Given the description of an element on the screen output the (x, y) to click on. 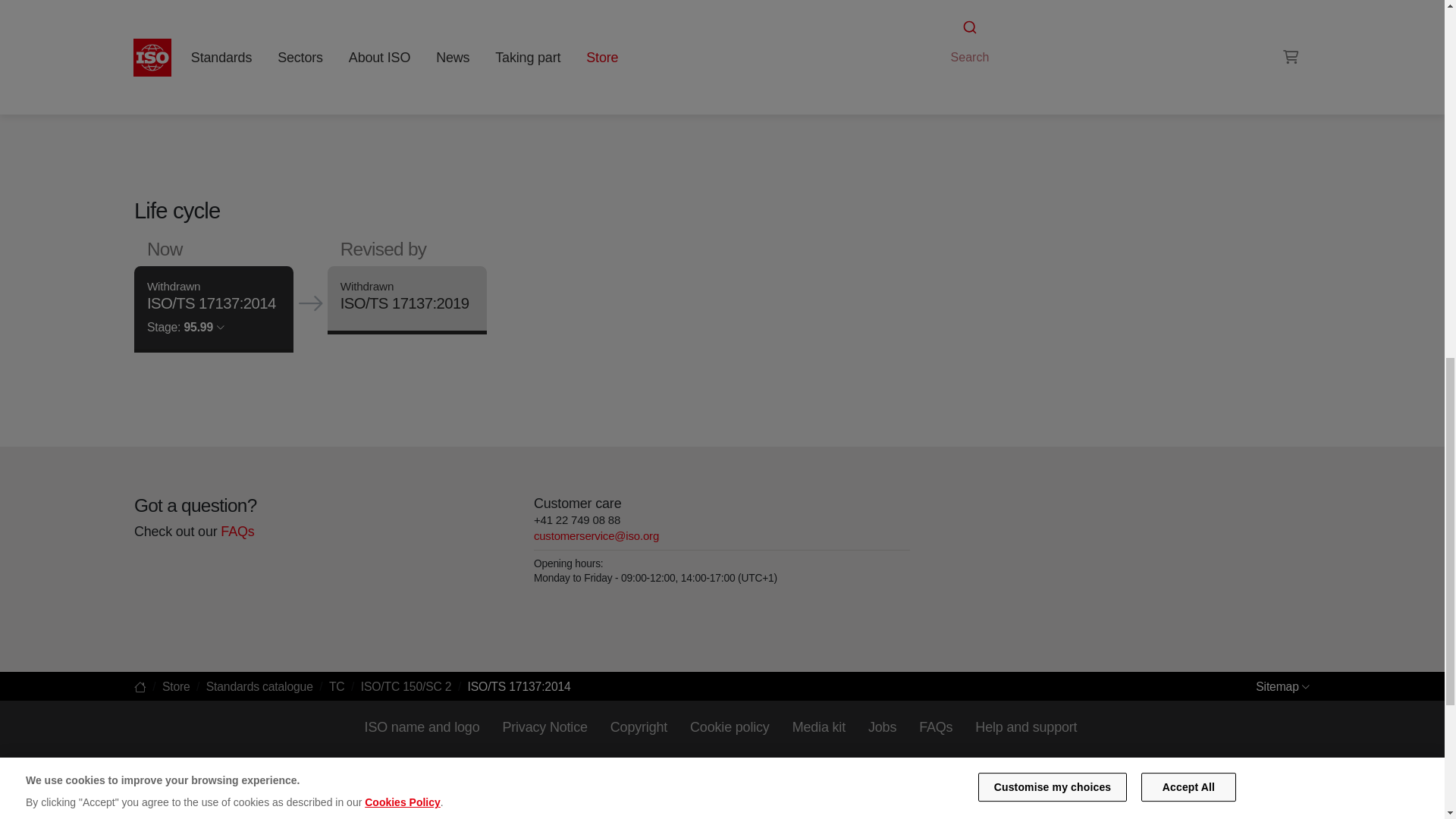
RSS (956, 38)
11.040.40 (997, 8)
Stage: 95.99 (185, 327)
Implants for surgery, prosthetics and orthotics (997, 8)
